Given the description of an element on the screen output the (x, y) to click on. 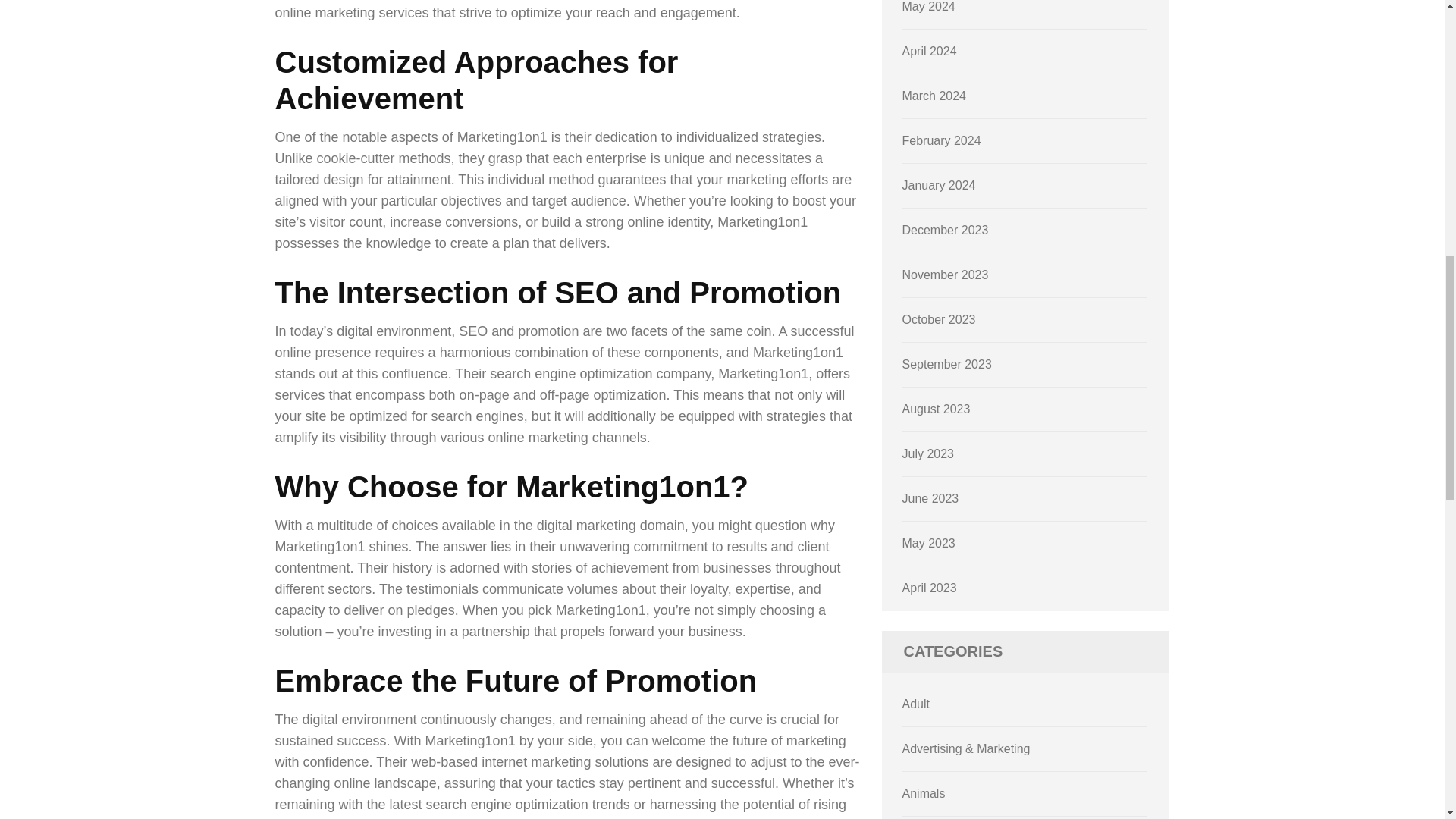
August 2023 (936, 408)
Adult (916, 703)
May 2023 (928, 543)
December 2023 (945, 229)
April 2023 (929, 587)
November 2023 (945, 274)
January 2024 (938, 185)
September 2023 (946, 364)
May 2024 (928, 6)
October 2023 (938, 318)
